Given the description of an element on the screen output the (x, y) to click on. 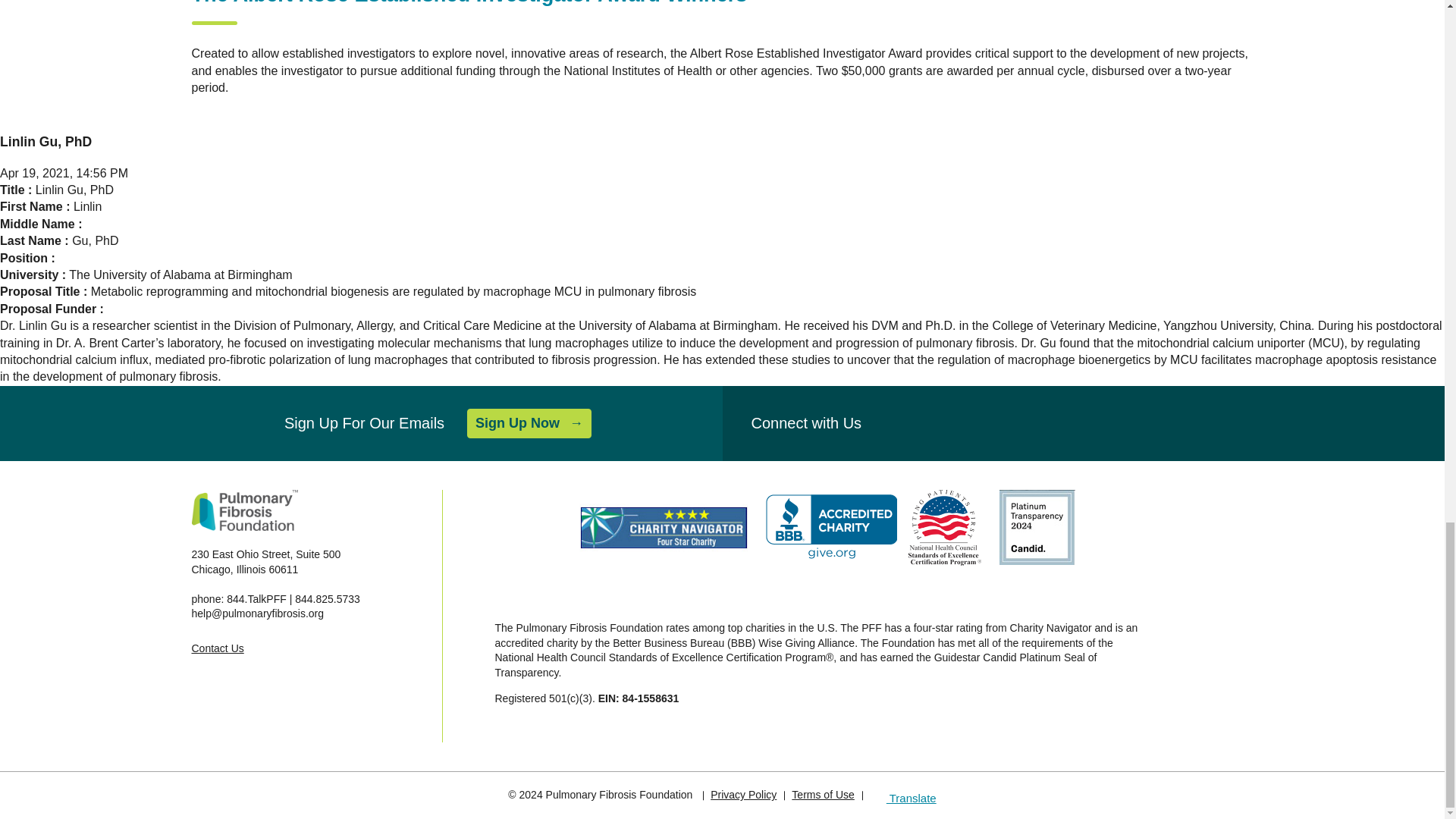
Accredited Charity (830, 527)
footer-logo (243, 509)
charity-navigator (664, 527)
Guide-Star-2021 (1036, 527)
